Given the description of an element on the screen output the (x, y) to click on. 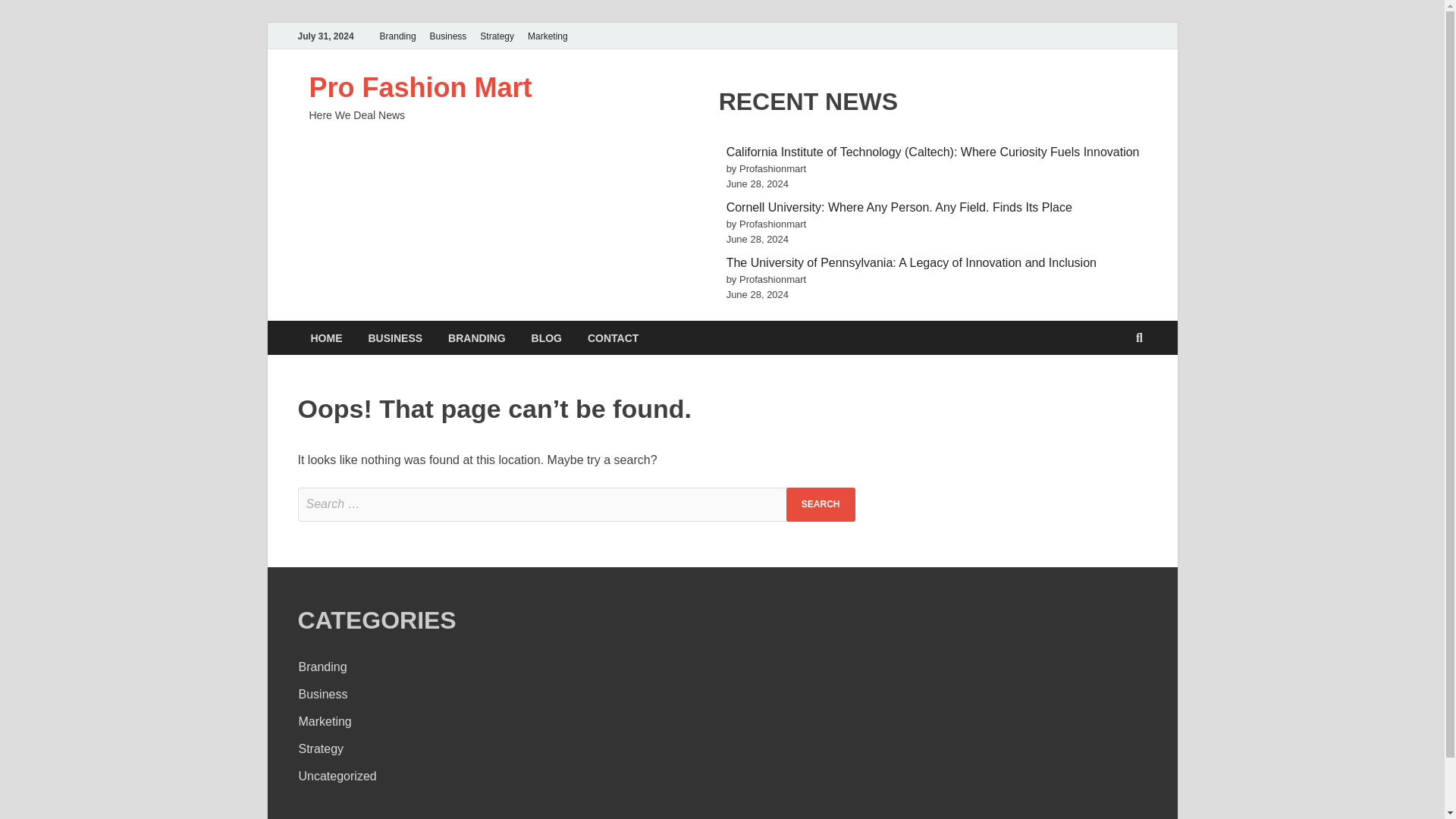
Business (322, 694)
Marketing (325, 721)
Strategy (497, 35)
Search (821, 504)
Search (821, 504)
BUSINESS (395, 337)
Uncategorized (337, 775)
CONTACT (612, 337)
Marketing (548, 35)
Search (821, 504)
Branding (397, 35)
BLOG (546, 337)
Pro Fashion Mart (420, 87)
